Given the description of an element on the screen output the (x, y) to click on. 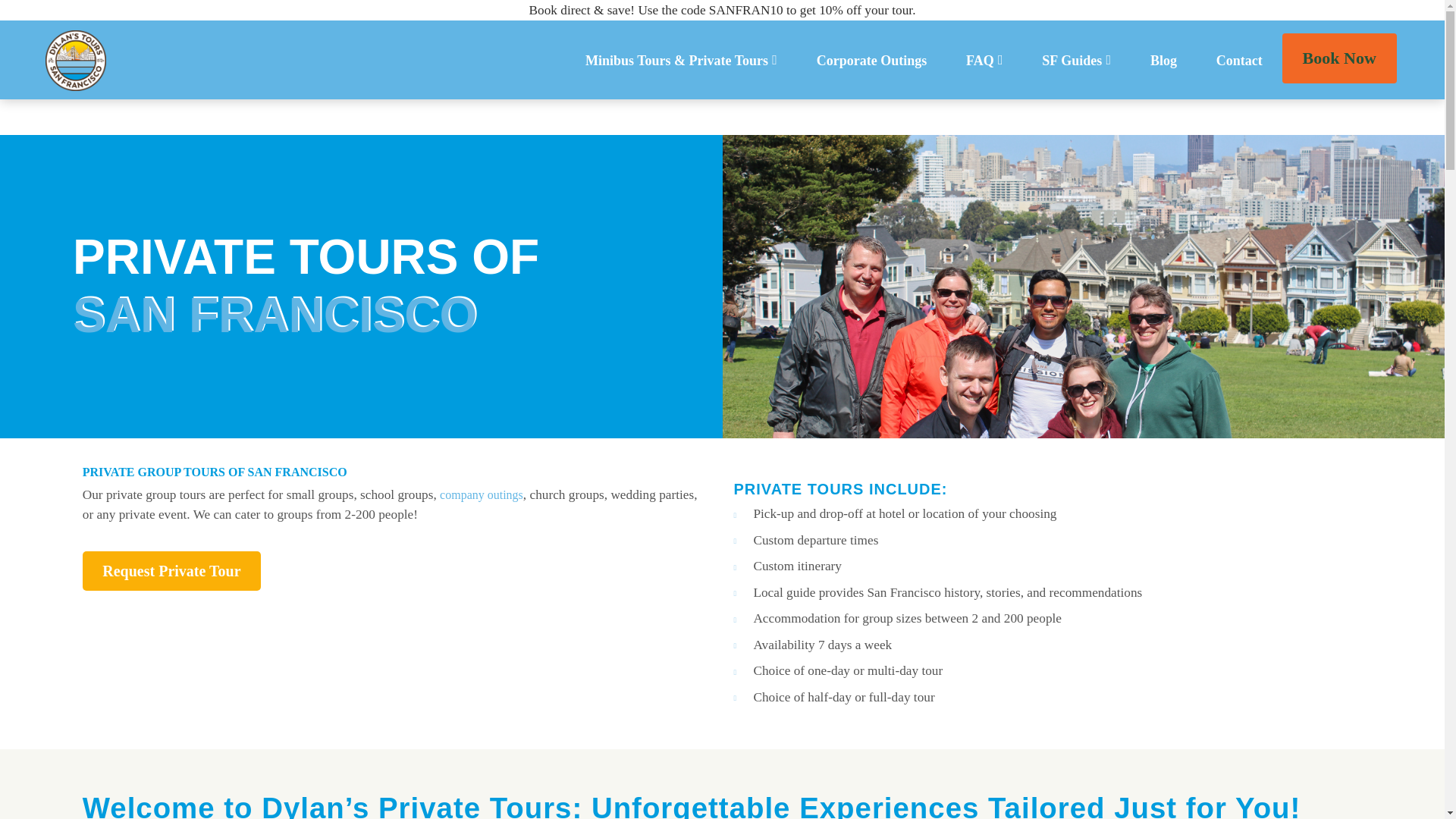
Request Private Tour (171, 570)
company outings (480, 494)
Muir Woods (1111, 113)
About (1034, 113)
Corporate Outings (871, 60)
Contact (1238, 60)
Book Now (1339, 58)
FAQ (984, 60)
About (1034, 113)
SF Guides (1076, 60)
